Given the description of an element on the screen output the (x, y) to click on. 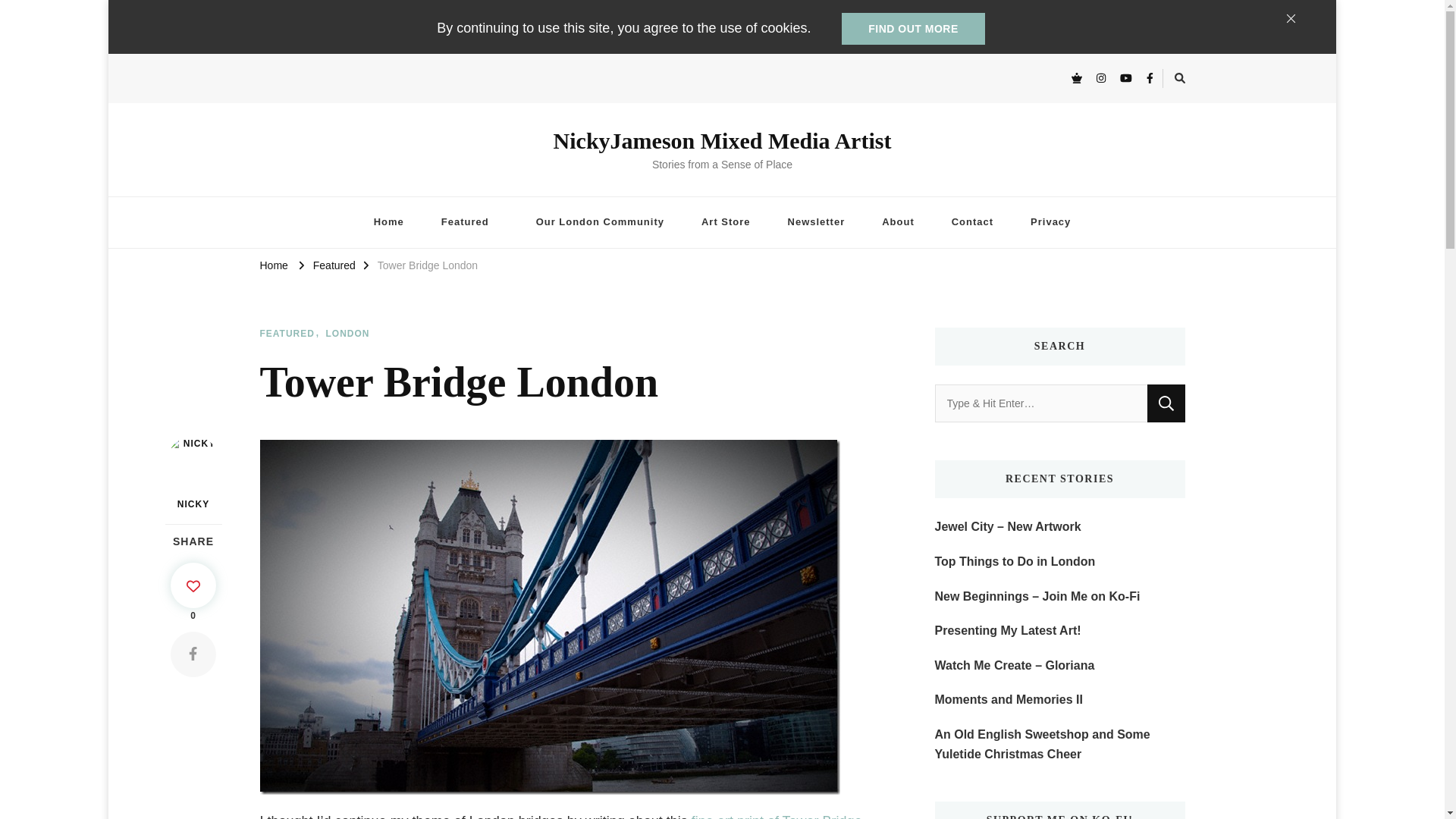
Privacy (1050, 222)
Art Store (725, 222)
Tower Bridge London (427, 265)
Tower Bridge London (549, 447)
About (897, 222)
Blog Home (388, 222)
Search (1166, 403)
Get email updates (816, 222)
Tower Bridge Photograph and Fine Art print-Nicky Jameson (776, 816)
fine art print of Tower Bridge (776, 816)
LONDON (347, 334)
Search (1166, 403)
Contact (972, 222)
Featured (470, 222)
Featured (334, 265)
